Given the description of an element on the screen output the (x, y) to click on. 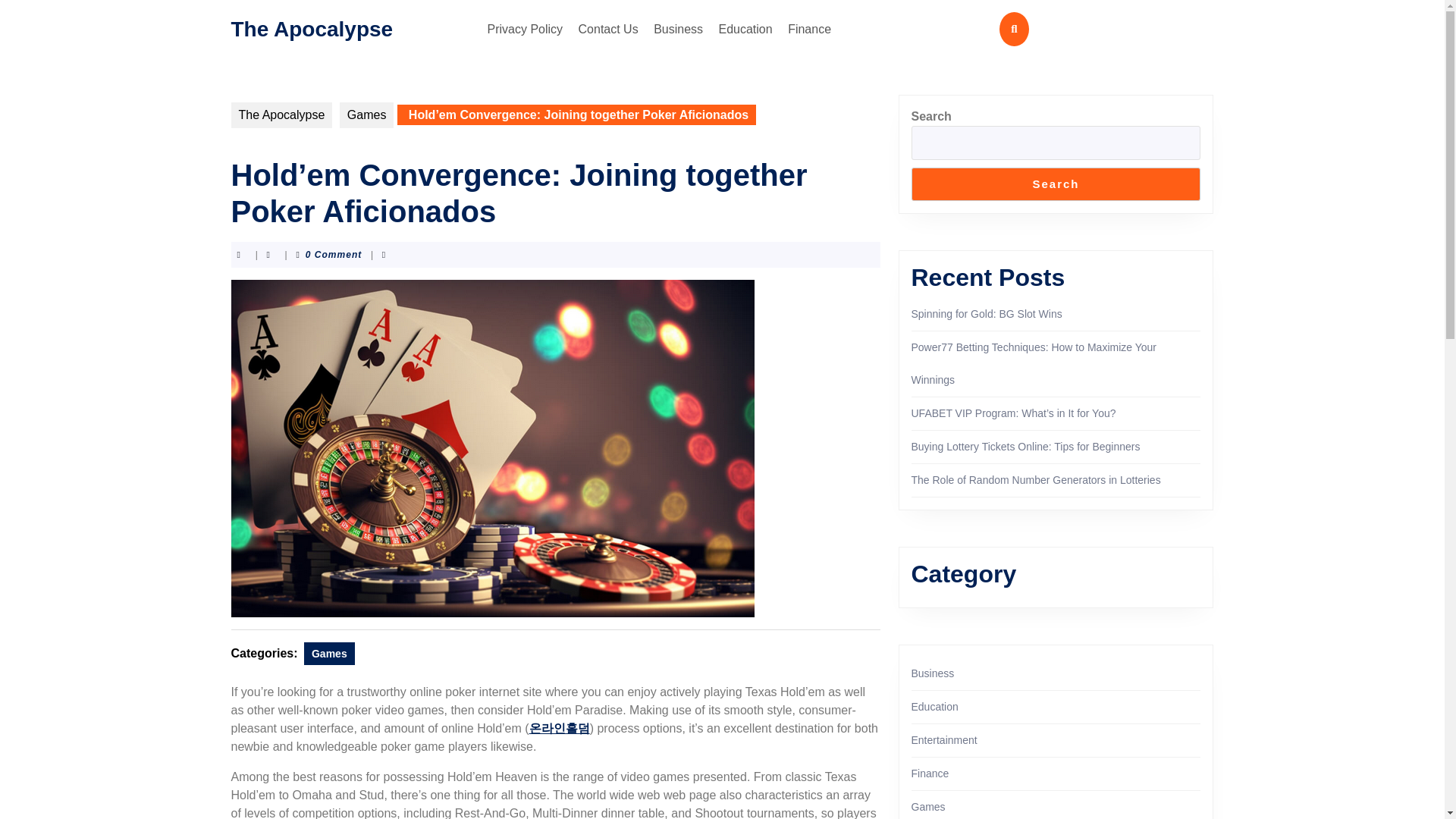
The Role of Random Number Generators in Lotteries (1035, 480)
The Apocalypse (311, 28)
Buying Lottery Tickets Online: Tips for Beginners (1025, 446)
Contact Us (608, 28)
Finance (809, 28)
Search (1056, 183)
The Apocalypse (280, 114)
Business (678, 28)
Privacy Policy (524, 28)
Games (366, 114)
